Given the description of an element on the screen output the (x, y) to click on. 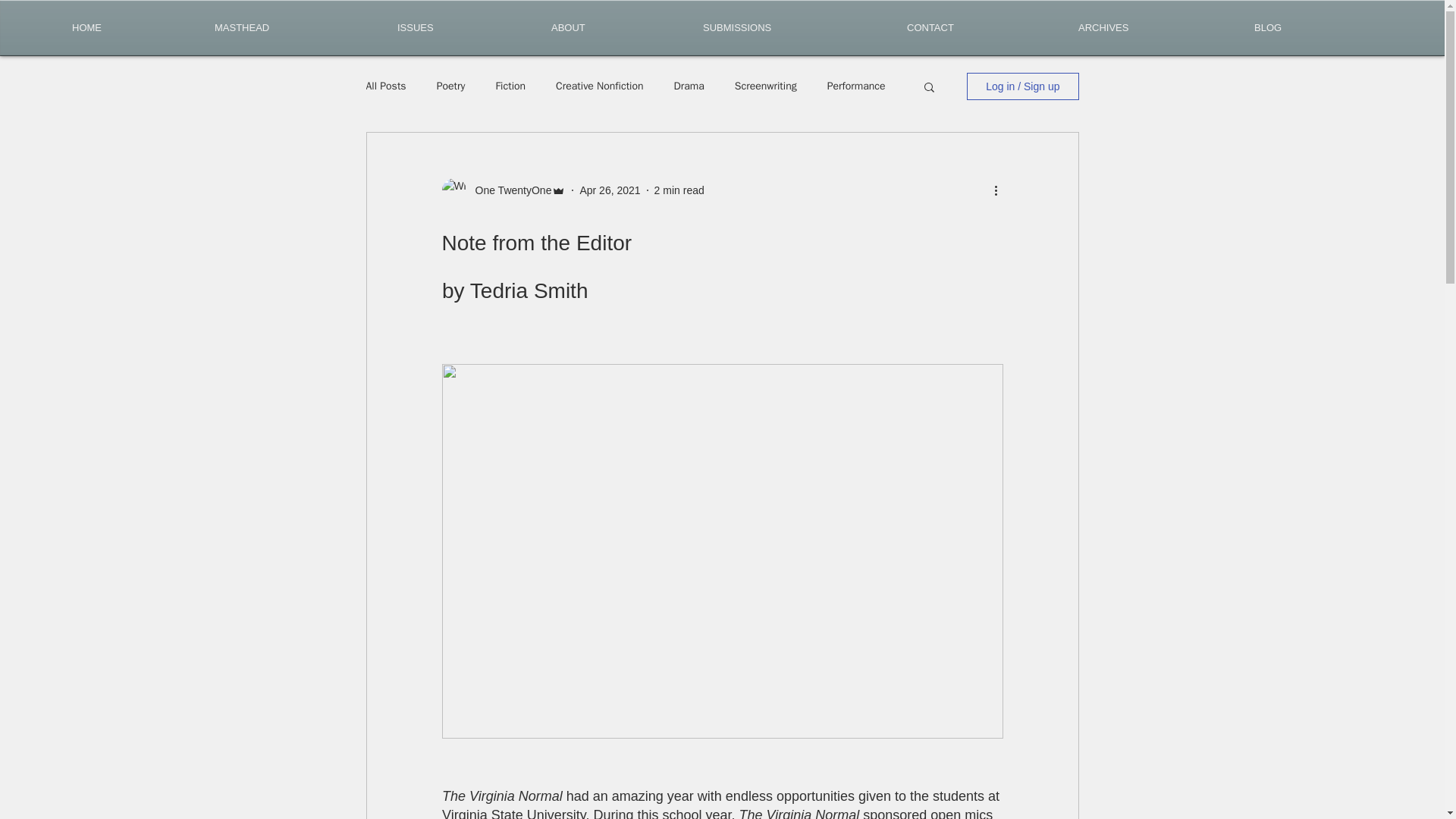
Screenwriting (765, 86)
BLOG (1313, 27)
Poetry (450, 86)
Fiction (510, 86)
One TwentyOne (508, 189)
2 min read (678, 189)
ARCHIVES (1155, 27)
MASTHEAD (294, 27)
SUBMISSIONS (793, 27)
Performance (856, 86)
